Given the description of an element on the screen output the (x, y) to click on. 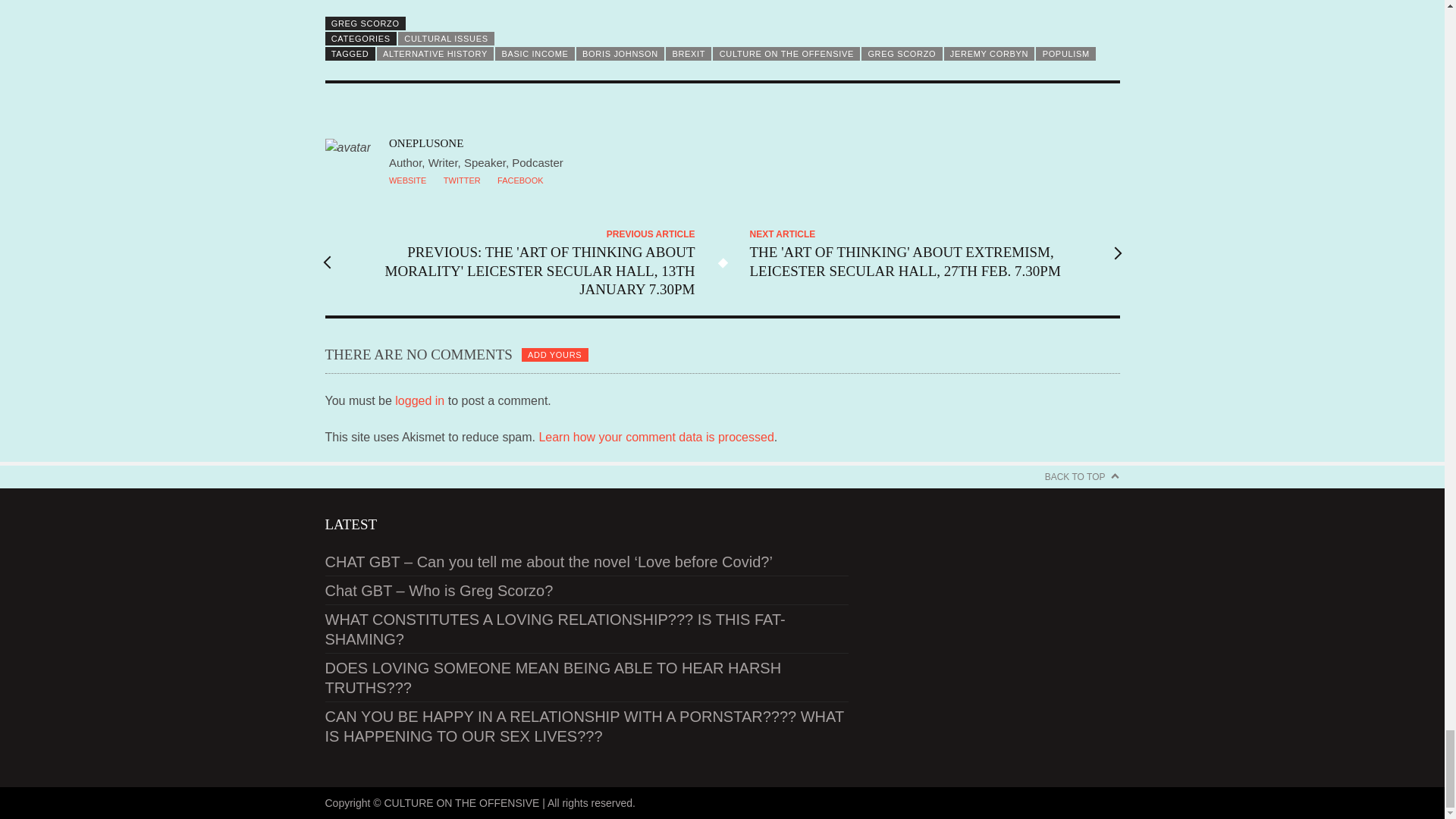
BORIS JOHNSON (619, 53)
ALTERNATIVE HISTORY (435, 53)
View all posts tagged culture on the offensive (786, 53)
View all posts tagged Boris Johnson (619, 53)
View all posts tagged Greg Scorzo (901, 53)
CULTURAL ISSUES (446, 38)
View all posts tagged Basic Income (535, 53)
View all posts tagged Populism (1065, 53)
Posts by oneplusone (425, 143)
BASIC INCOME (535, 53)
